Given the description of an element on the screen output the (x, y) to click on. 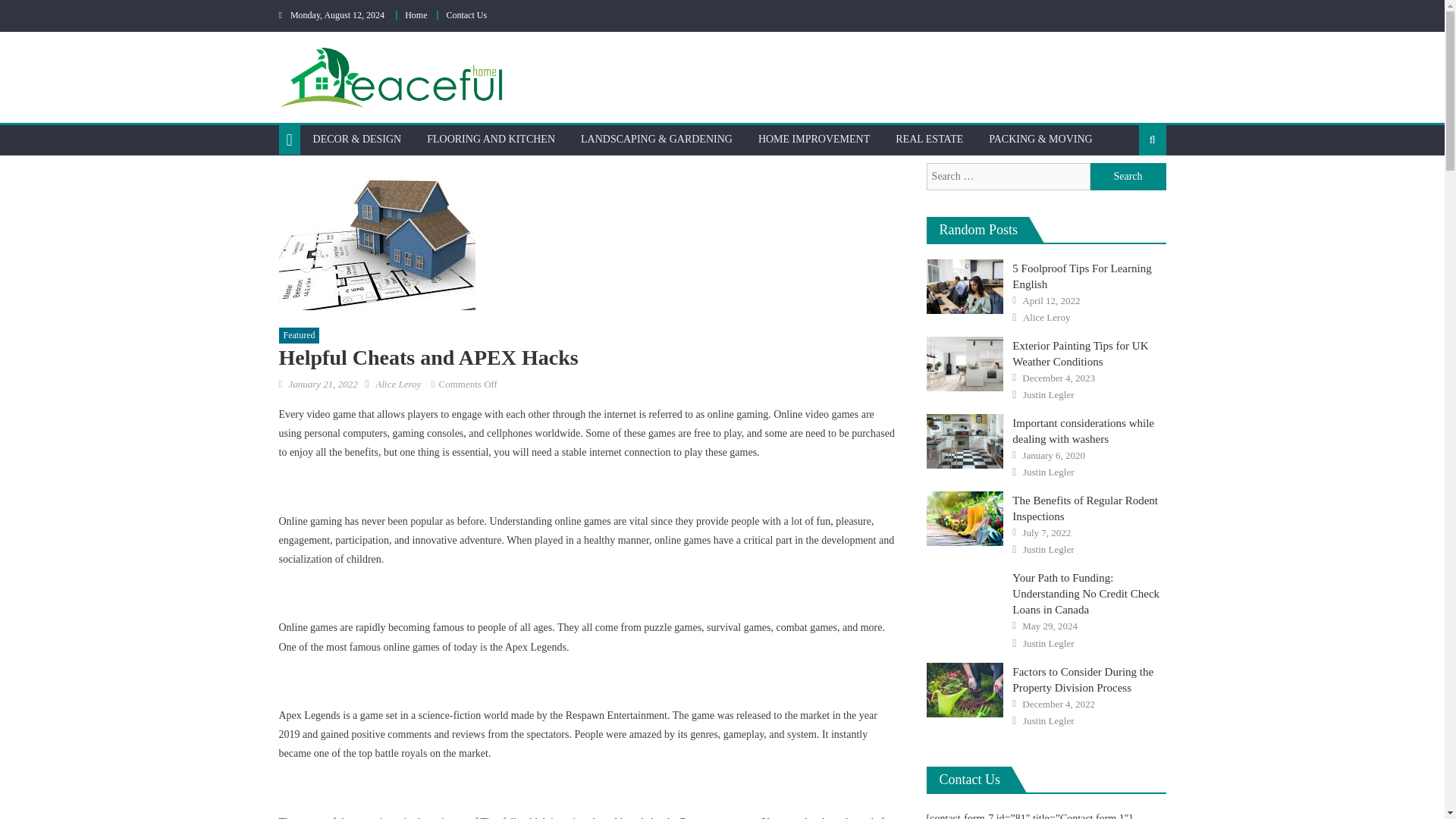
Search (1128, 176)
Factors to Consider During the Property Division Process (964, 689)
HOME IMPROVEMENT (813, 139)
Contact Us (465, 14)
Search (1128, 176)
Important considerations while dealing with washers (964, 441)
5 Foolproof Tips For Learning English (964, 286)
Featured (299, 335)
Alice Leroy (397, 383)
FLOORING AND KITCHEN (490, 139)
